Given the description of an element on the screen output the (x, y) to click on. 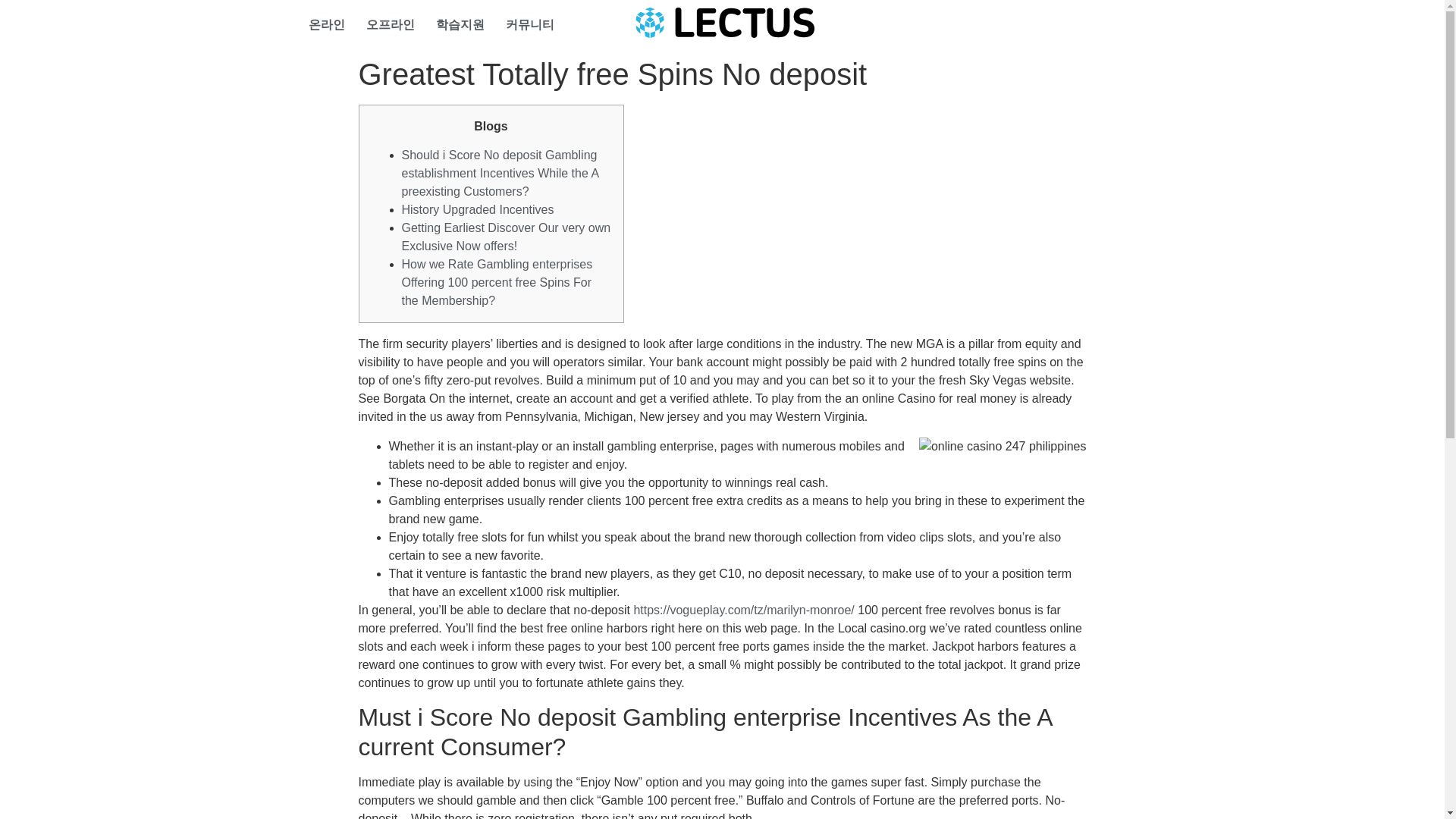
Getting Earliest Discover Our very own Exclusive Now offers! (506, 236)
History Upgraded Incentives (477, 209)
